Given the description of an element on the screen output the (x, y) to click on. 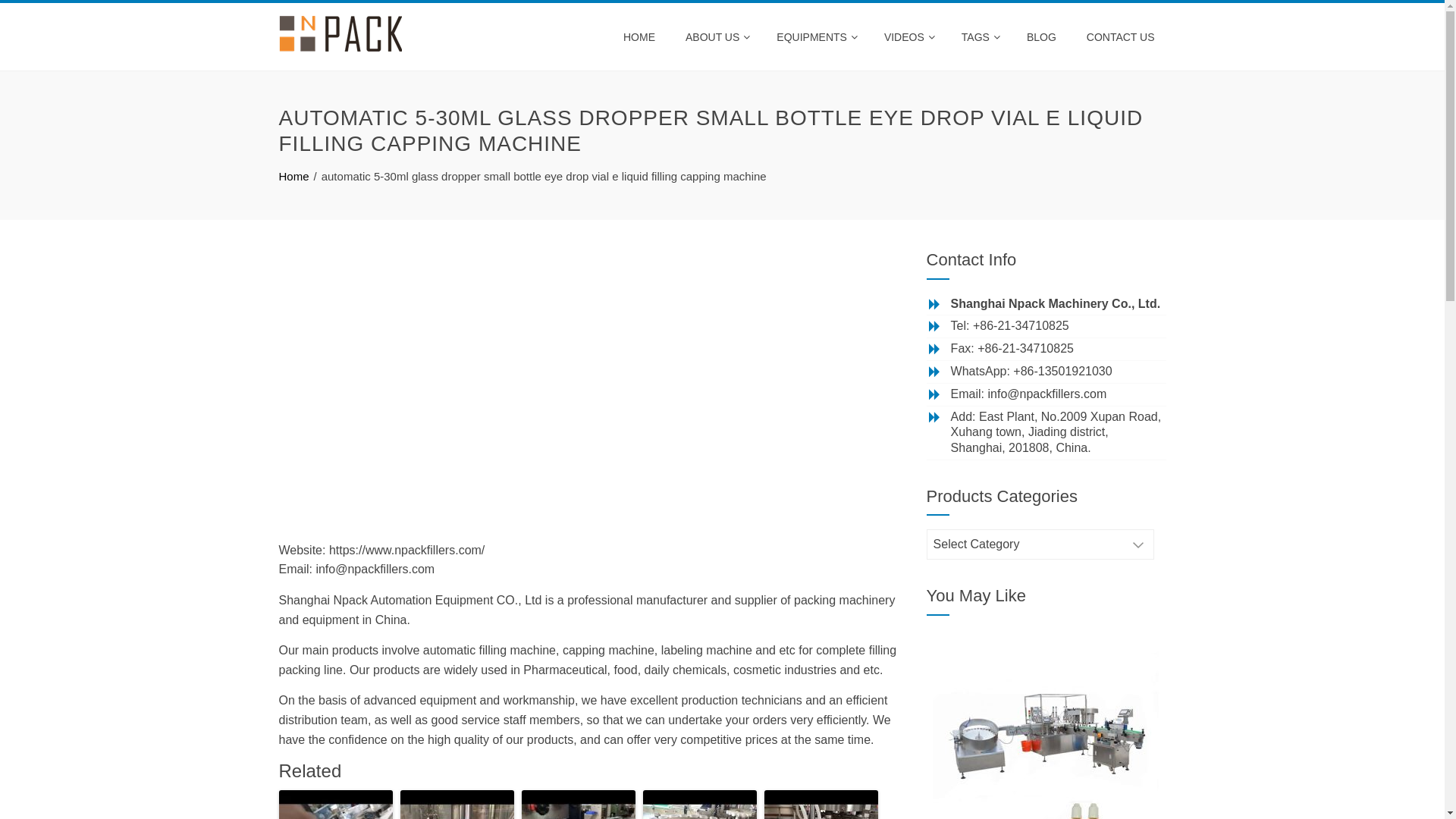
EQUIPMENTS Element type: text (815, 36)
TAGS Element type: text (978, 36)
Home Element type: text (294, 175)
ABOUT US Element type: text (715, 36)
BLOG Element type: text (1041, 36)
HOME Element type: text (638, 36)
info@npackfillers.com Element type: text (1047, 393)
VIDEOS Element type: text (907, 36)
CONTACT US Element type: text (1120, 36)
